Given the description of an element on the screen output the (x, y) to click on. 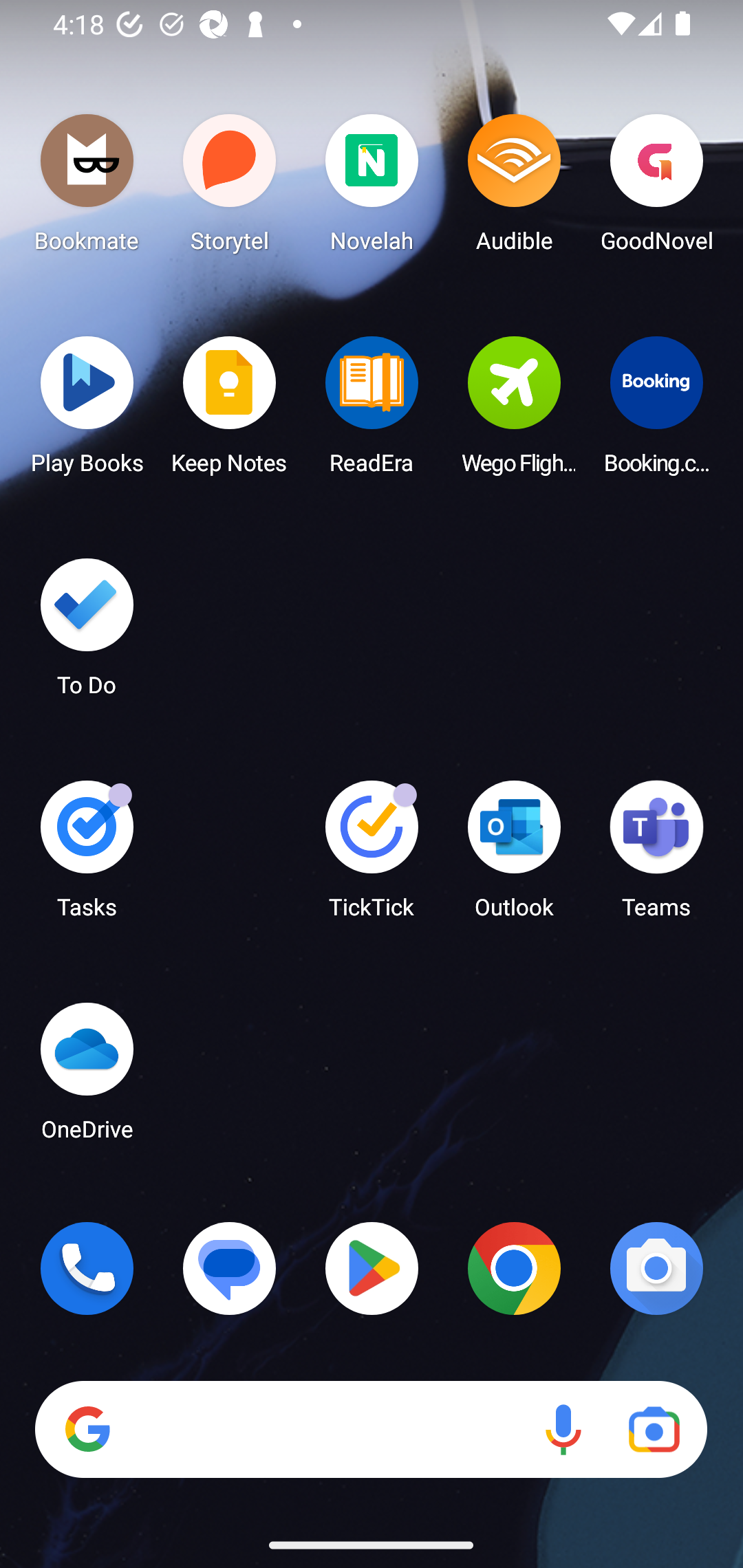
Bookmate (86, 188)
Storytel (229, 188)
Novelah (371, 188)
Audible (513, 188)
GoodNovel (656, 188)
Play Books (86, 410)
Keep Notes (229, 410)
ReadEra (371, 410)
Wego Flights & Hotels (513, 410)
Booking.com (656, 410)
To Do (86, 633)
Tasks Tasks has 1 notification (86, 854)
TickTick TickTick has 3 notifications (371, 854)
Outlook (513, 854)
Teams (656, 854)
OneDrive (86, 1076)
Phone (86, 1268)
Messages (229, 1268)
Play Store (371, 1268)
Chrome (513, 1268)
Camera (656, 1268)
Voice search (562, 1429)
Google Lens (653, 1429)
